Given the description of an element on the screen output the (x, y) to click on. 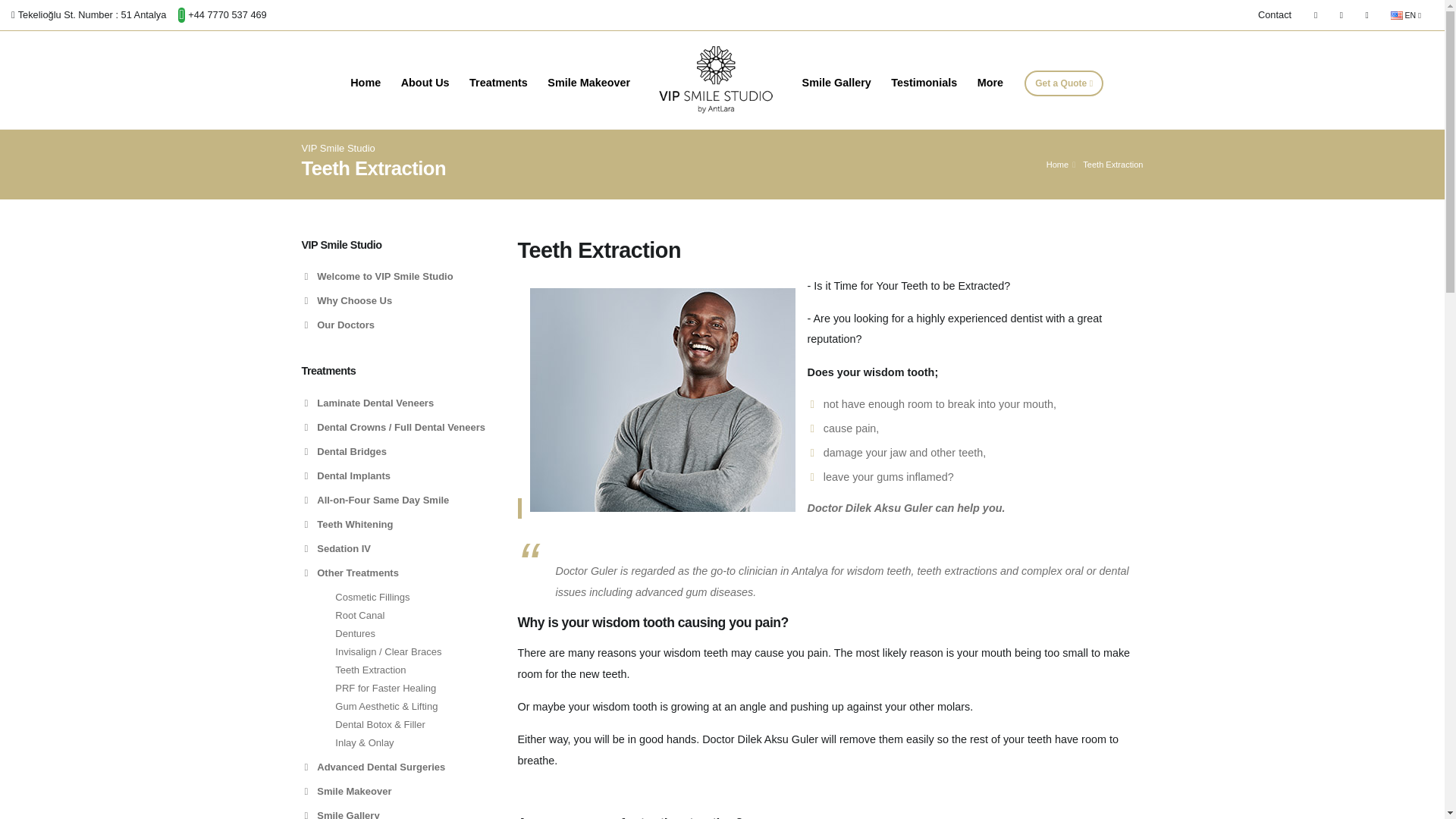
Smile Gallery (836, 83)
Facebook (1315, 14)
Youtube (1366, 14)
Instragram (1341, 14)
EN (1405, 15)
Smile Makeover (588, 83)
Contact (1280, 14)
